Given the description of an element on the screen output the (x, y) to click on. 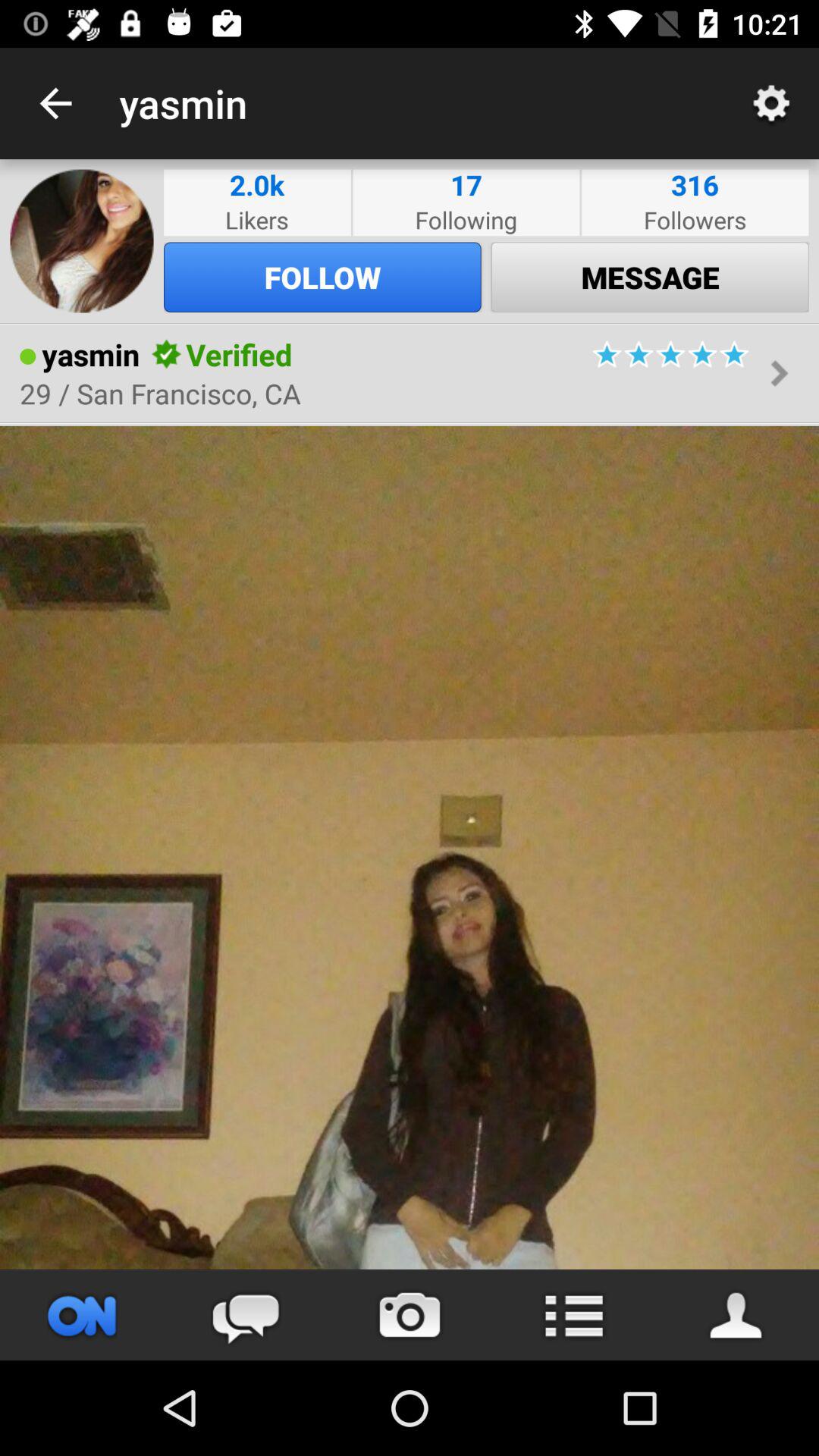
turn off likers item (256, 219)
